Given the description of an element on the screen output the (x, y) to click on. 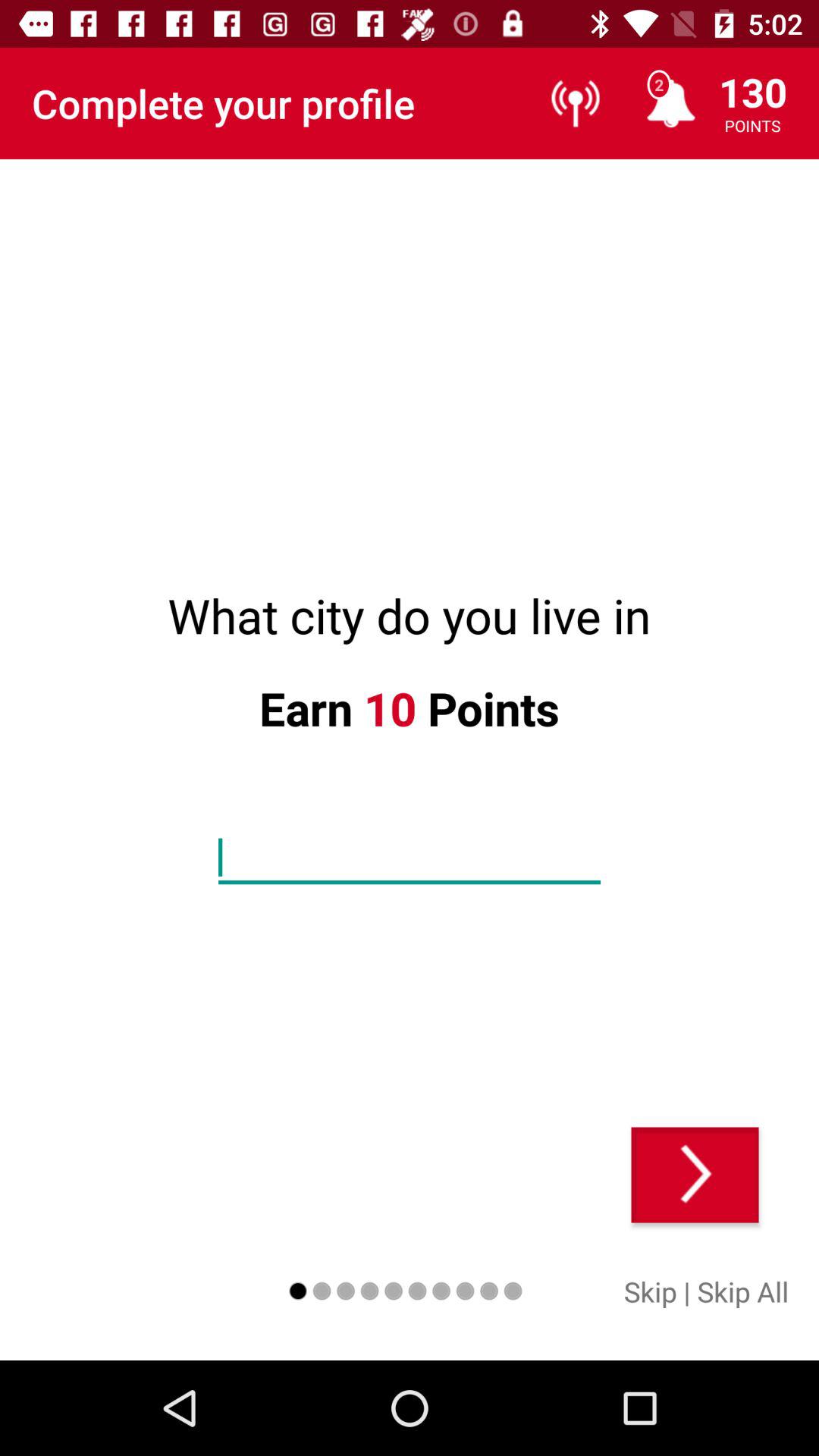
turn off the item to the right of the  | (742, 1291)
